Given the description of an element on the screen output the (x, y) to click on. 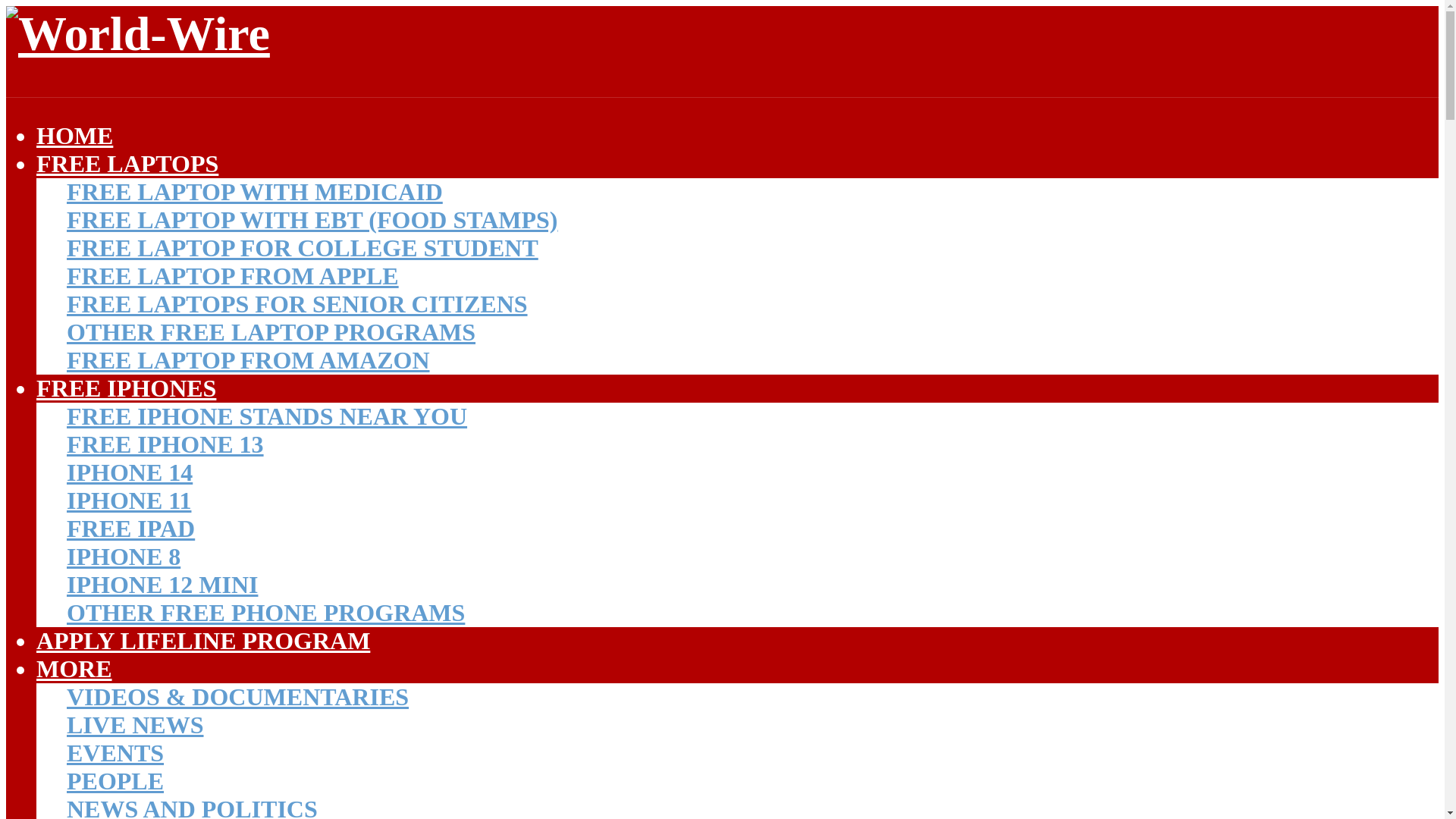
IPHONE 8 (123, 556)
FREE IPHONE 13 (164, 443)
FREE LAPTOP FROM APPLE (232, 275)
FREE LAPTOP WITH MEDICAID (254, 191)
EVENTS (114, 752)
IPHONE 11 (128, 500)
HOME (74, 135)
LIVE NEWS (134, 724)
FREE LAPTOP FOR COLLEGE STUDENT (302, 247)
APPLY LIFELINE PROGRAM (202, 640)
FREE LAPTOPS FOR SENIOR CITIZENS (296, 303)
MORE (74, 668)
NEWS AND POLITICS (191, 807)
PEOPLE (114, 780)
FREE IPHONES (125, 388)
